Given the description of an element on the screen output the (x, y) to click on. 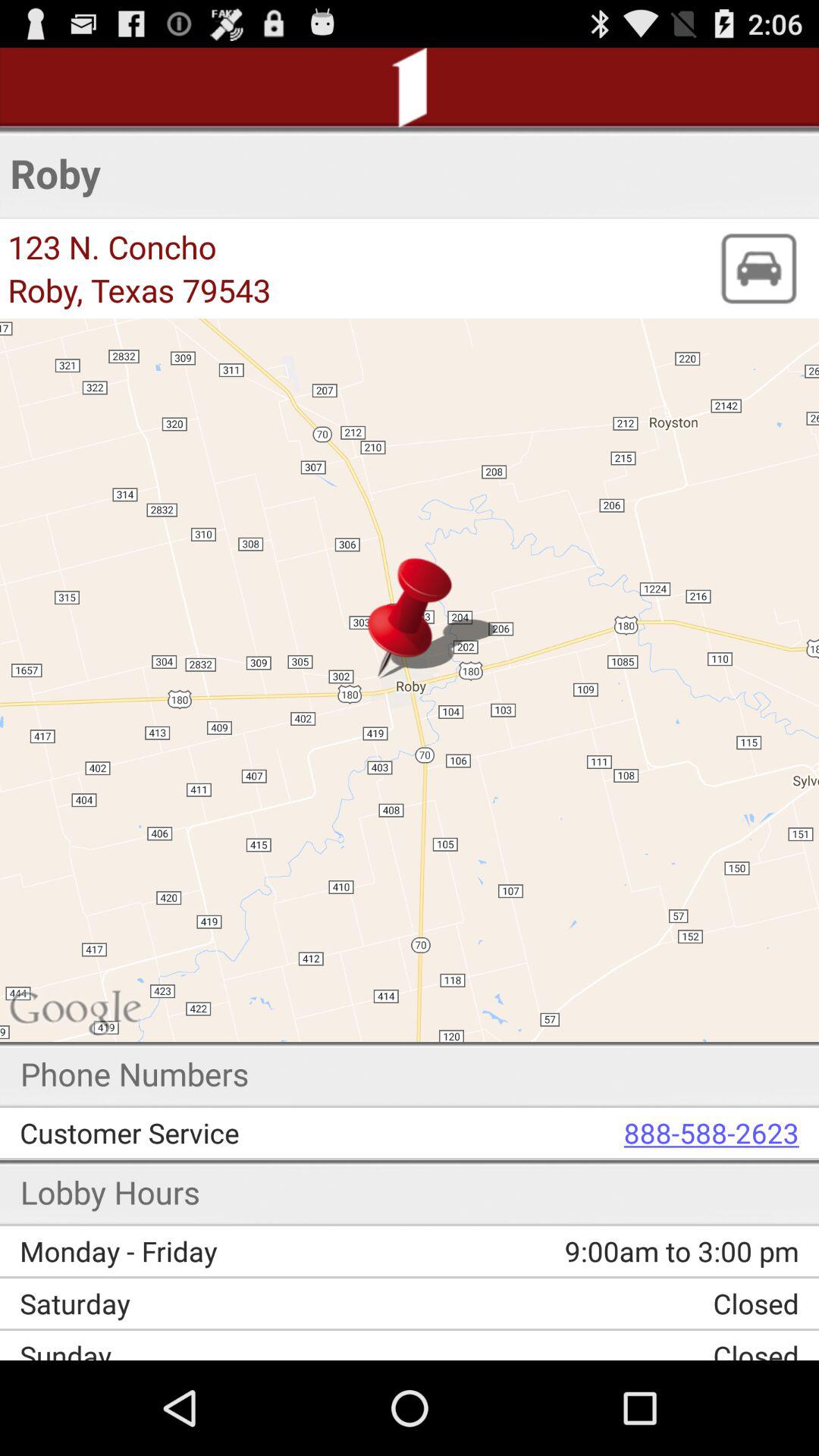
get direction for the car drive (757, 268)
